Given the description of an element on the screen output the (x, y) to click on. 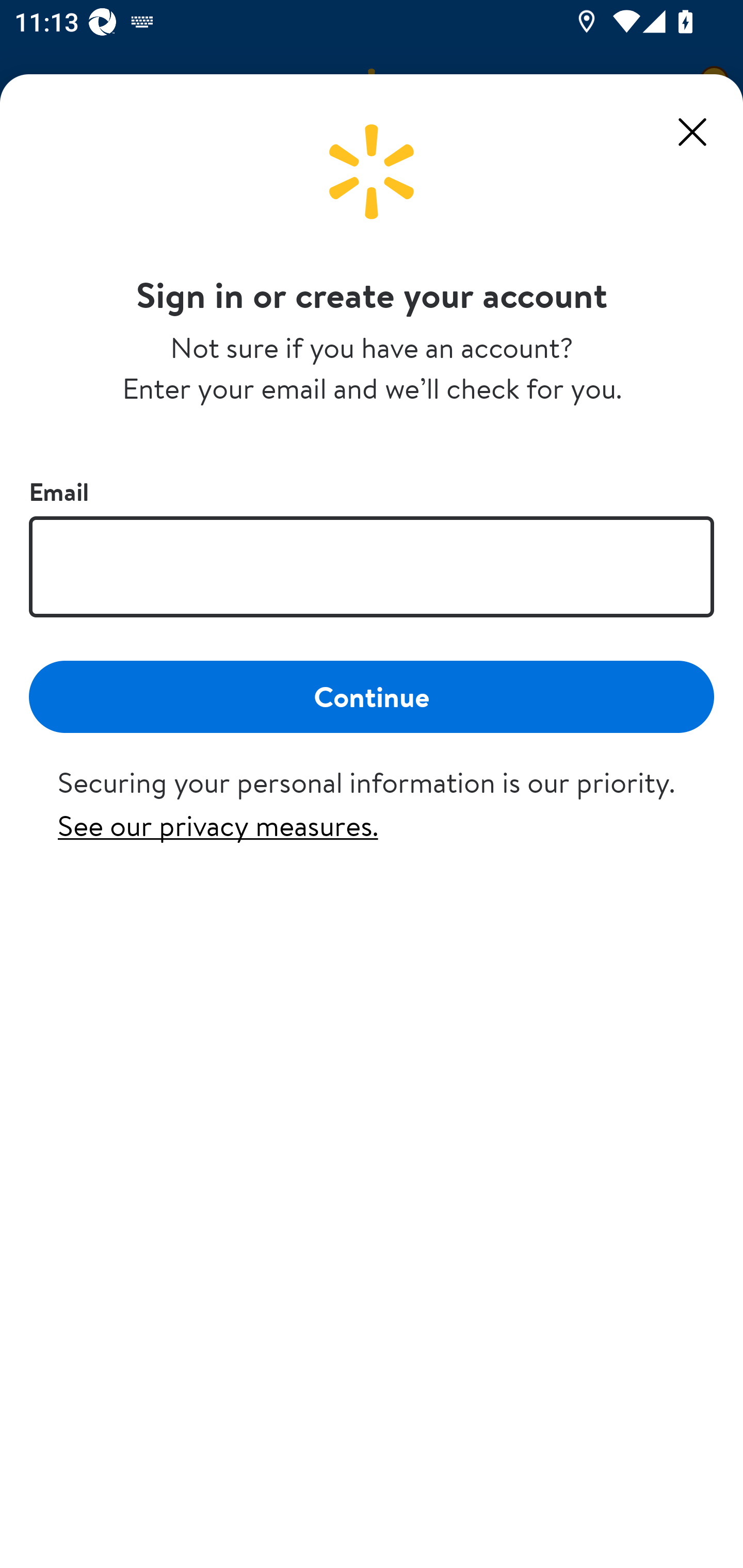
Close (692, 131)
Email (371, 566)
Continue (371, 696)
